Given the description of an element on the screen output the (x, y) to click on. 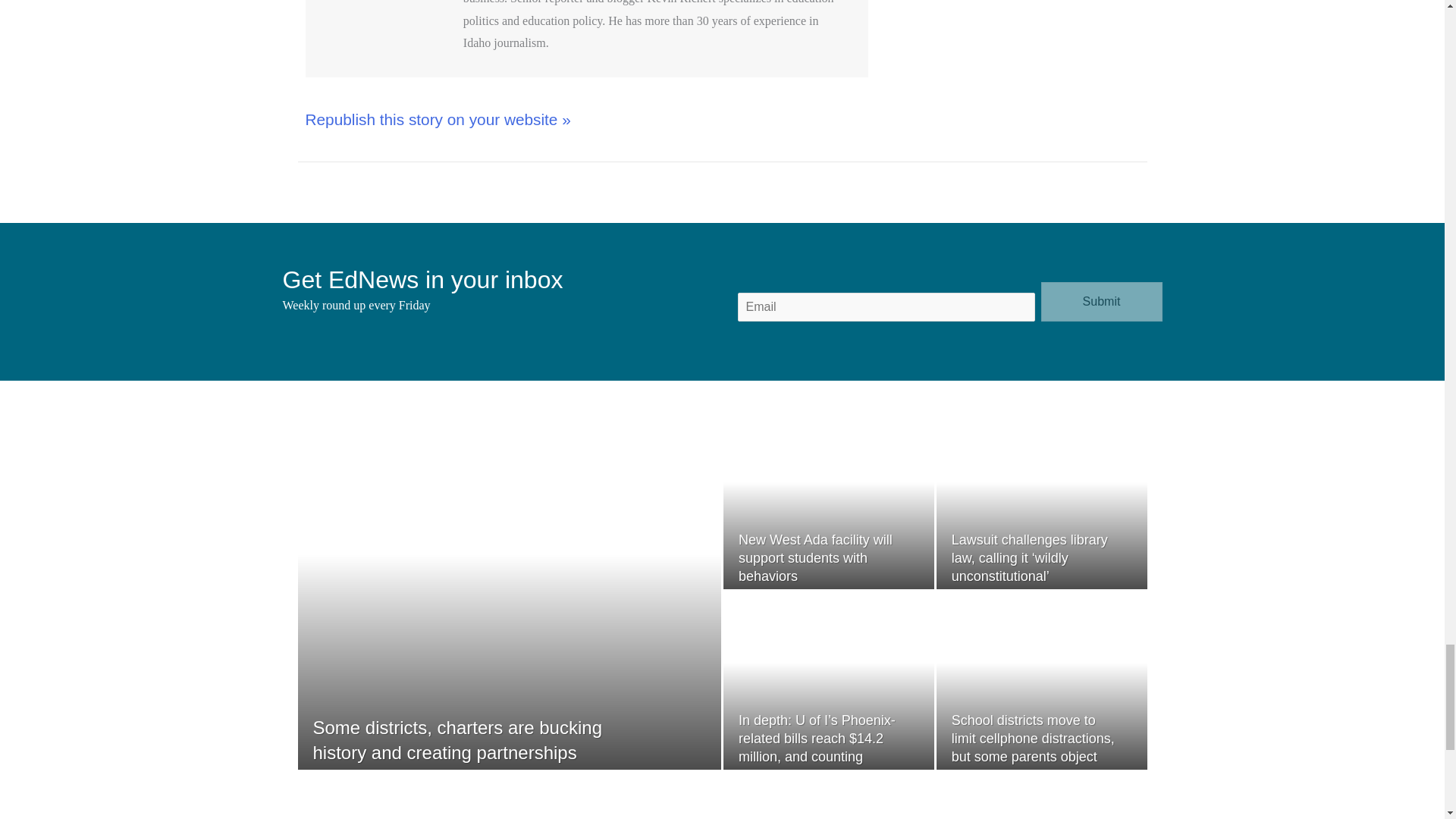
New West Ada facility will support students with behaviors (815, 557)
